Given the description of an element on the screen output the (x, y) to click on. 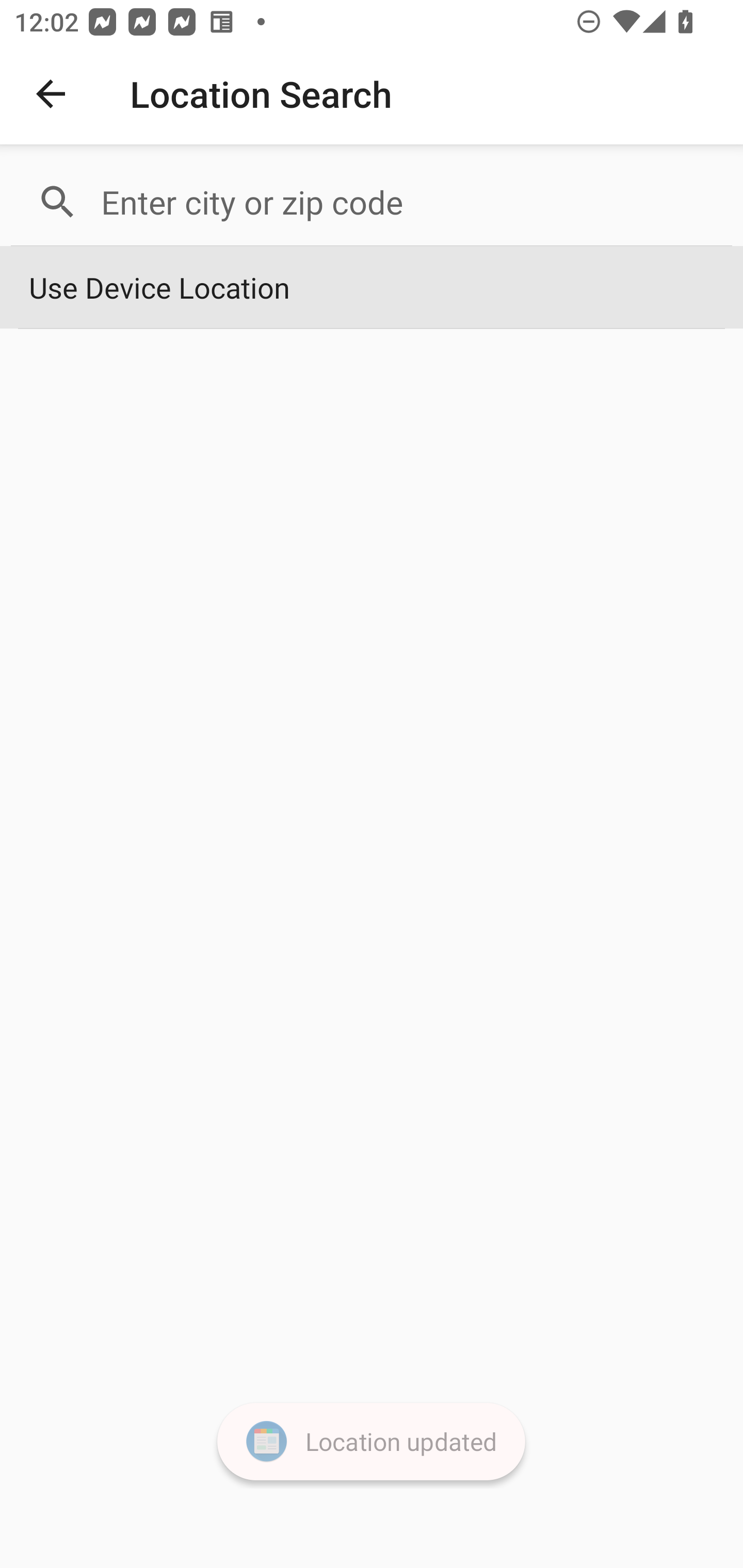
Navigate up (50, 93)
Enter city or zip code (407, 202)
Use Device Location (371, 287)
